Given the description of an element on the screen output the (x, y) to click on. 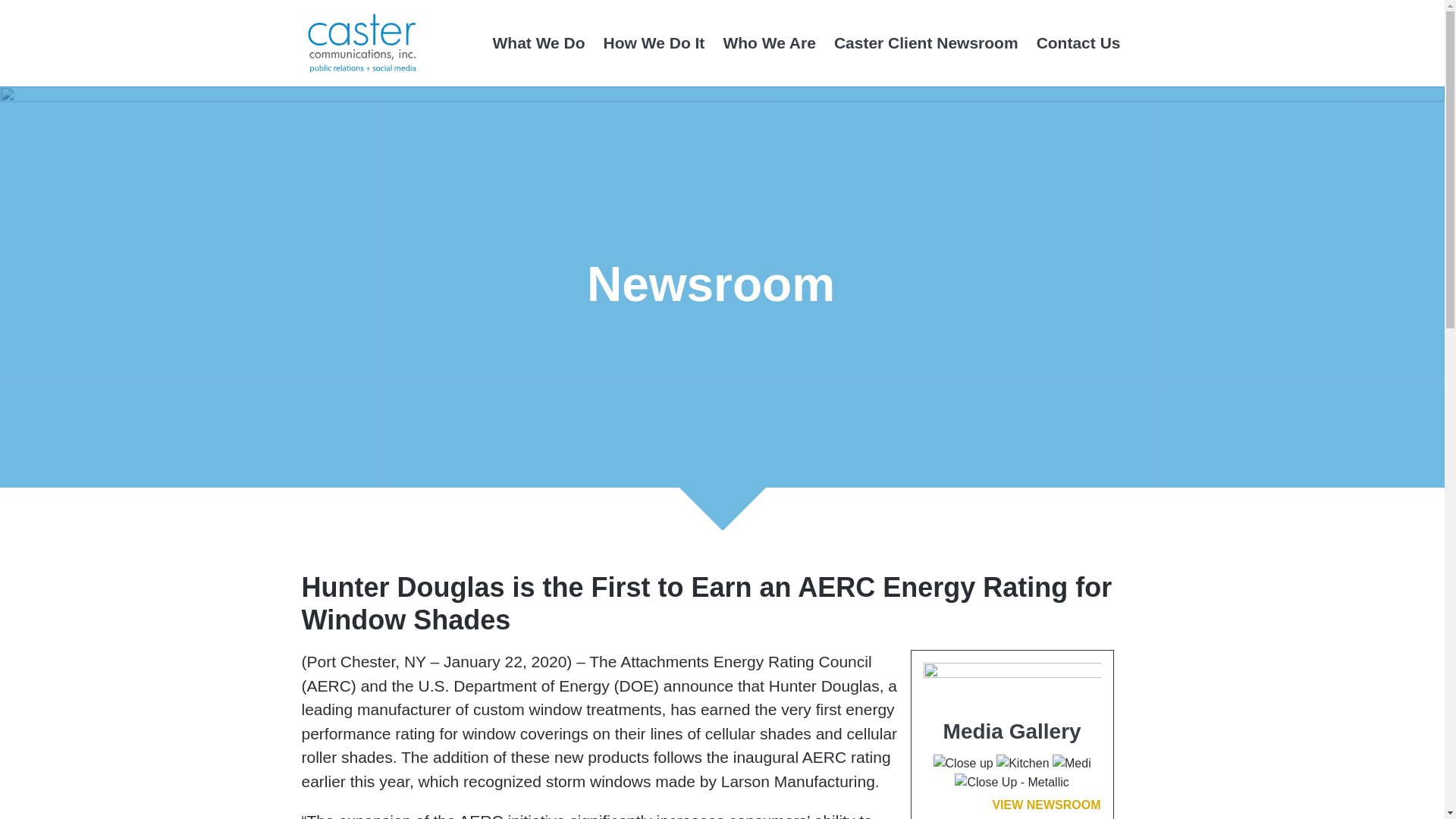
What We Do (538, 43)
Contact Us (1078, 43)
Who We Are (769, 43)
How We Do It (654, 43)
Caster Client Newsroom (926, 43)
VIEW NEWSROOM (1045, 804)
